Given the description of an element on the screen output the (x, y) to click on. 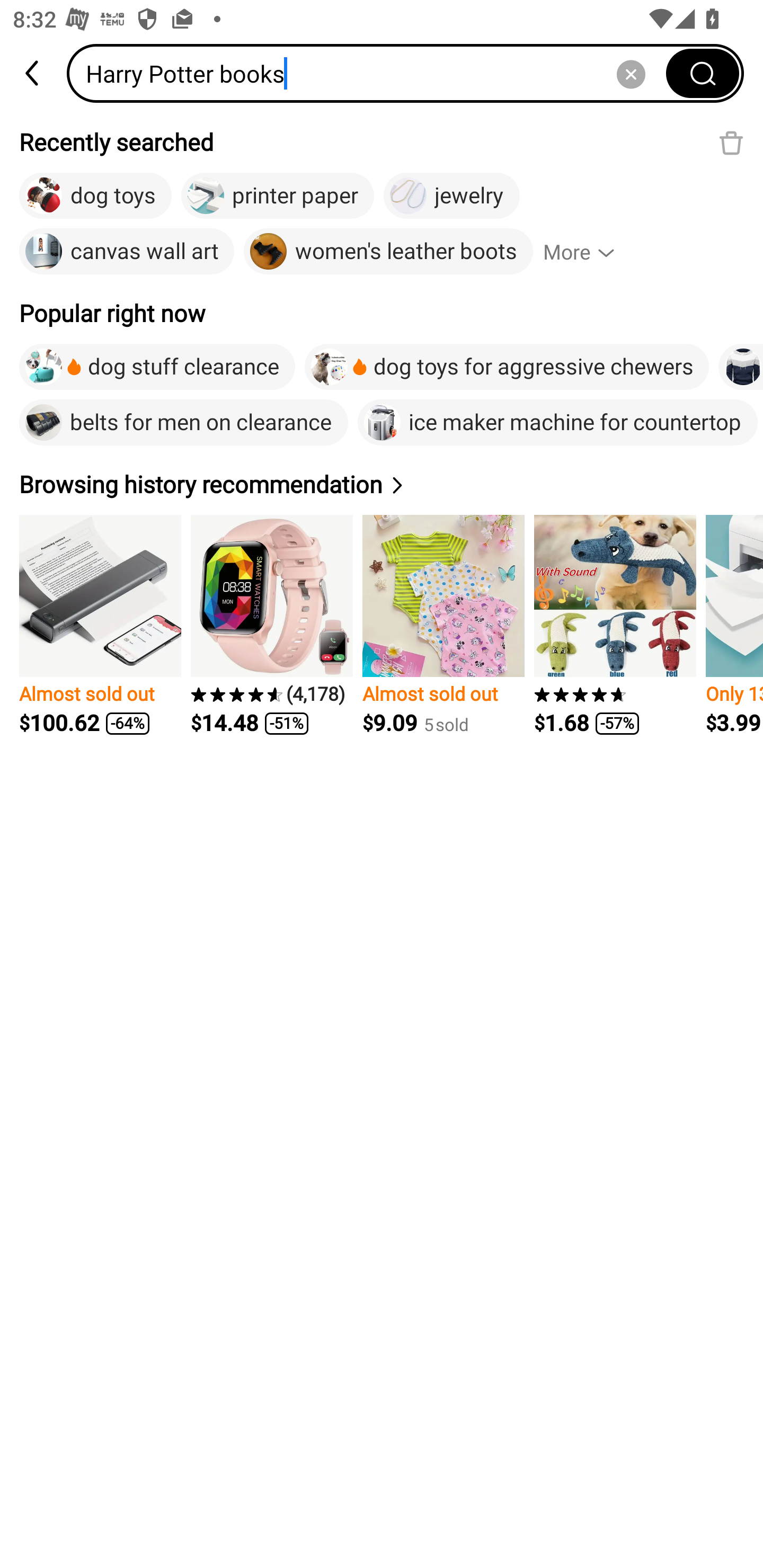
back (33, 72)
Harry Potter books (372, 73)
Delete search history (630, 73)
Delete recent search (731, 142)
dog toys (95, 195)
printer paper (277, 195)
jewelry (451, 195)
canvas wall art (126, 251)
women's leather boots (388, 251)
More (586, 251)
dog stuff clearance (157, 366)
dog toys for aggressive chewers (506, 366)
belts for men on clearance (183, 422)
ice maker machine for countertop (557, 422)
Browsing history recommendation (213, 484)
Almost sold out $100.62 -64% (100, 625)
(4,178) $14.48 -51% (271, 625)
Almost sold out $9.09 5￼sold (443, 625)
$1.68 -57% (614, 625)
